Given the description of an element on the screen output the (x, y) to click on. 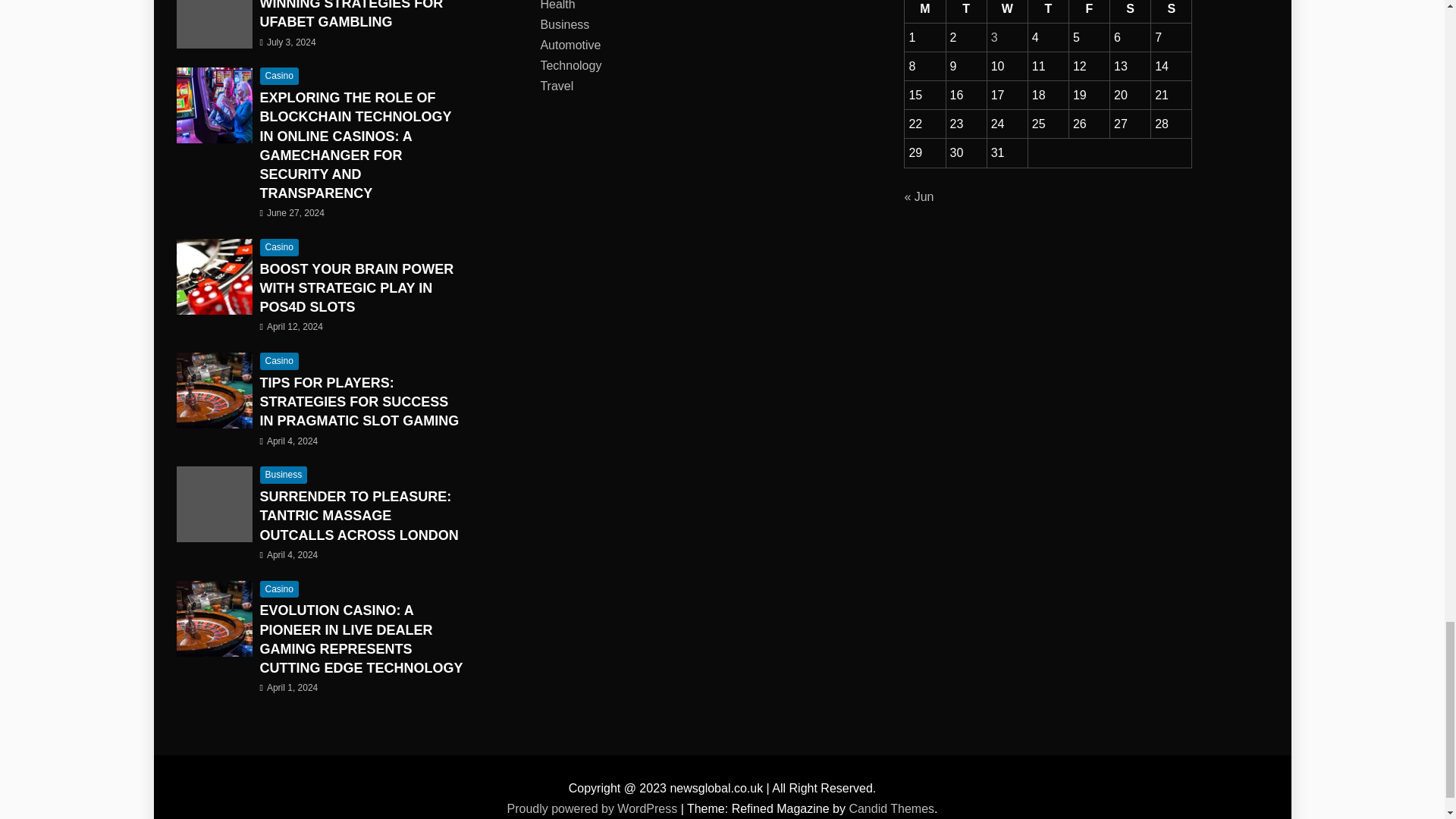
Tuesday (965, 11)
Thursday (1047, 11)
Saturday (1130, 11)
Monday (924, 11)
Wednesday (1007, 11)
Sunday (1171, 11)
Friday (1088, 11)
